Given the description of an element on the screen output the (x, y) to click on. 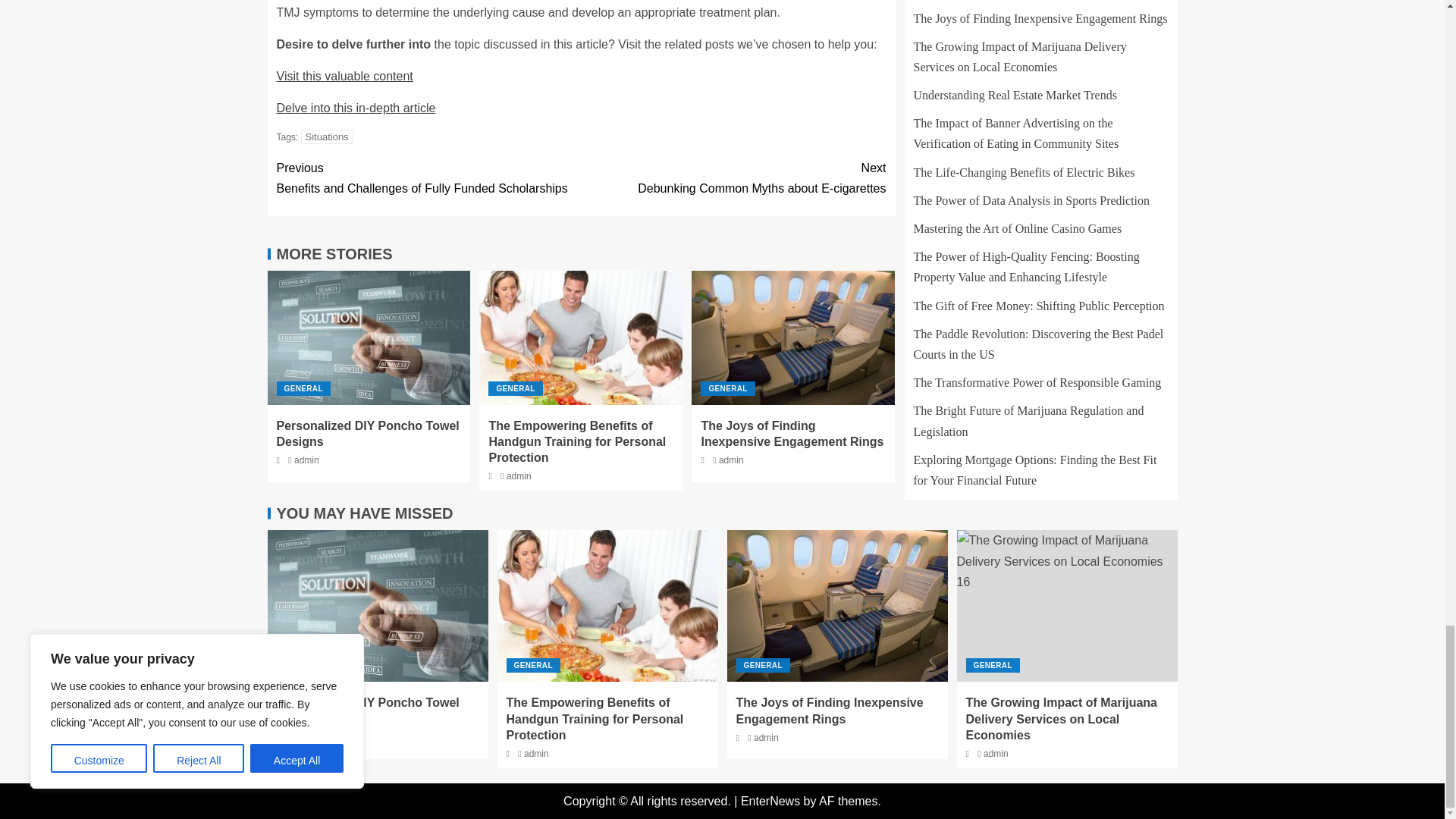
GENERAL (303, 388)
Visit this valuable content (344, 75)
Situations (327, 136)
Delve into this in-depth article (355, 107)
Personalized DIY Poncho Towel Designs (367, 433)
